Given the description of an element on the screen output the (x, y) to click on. 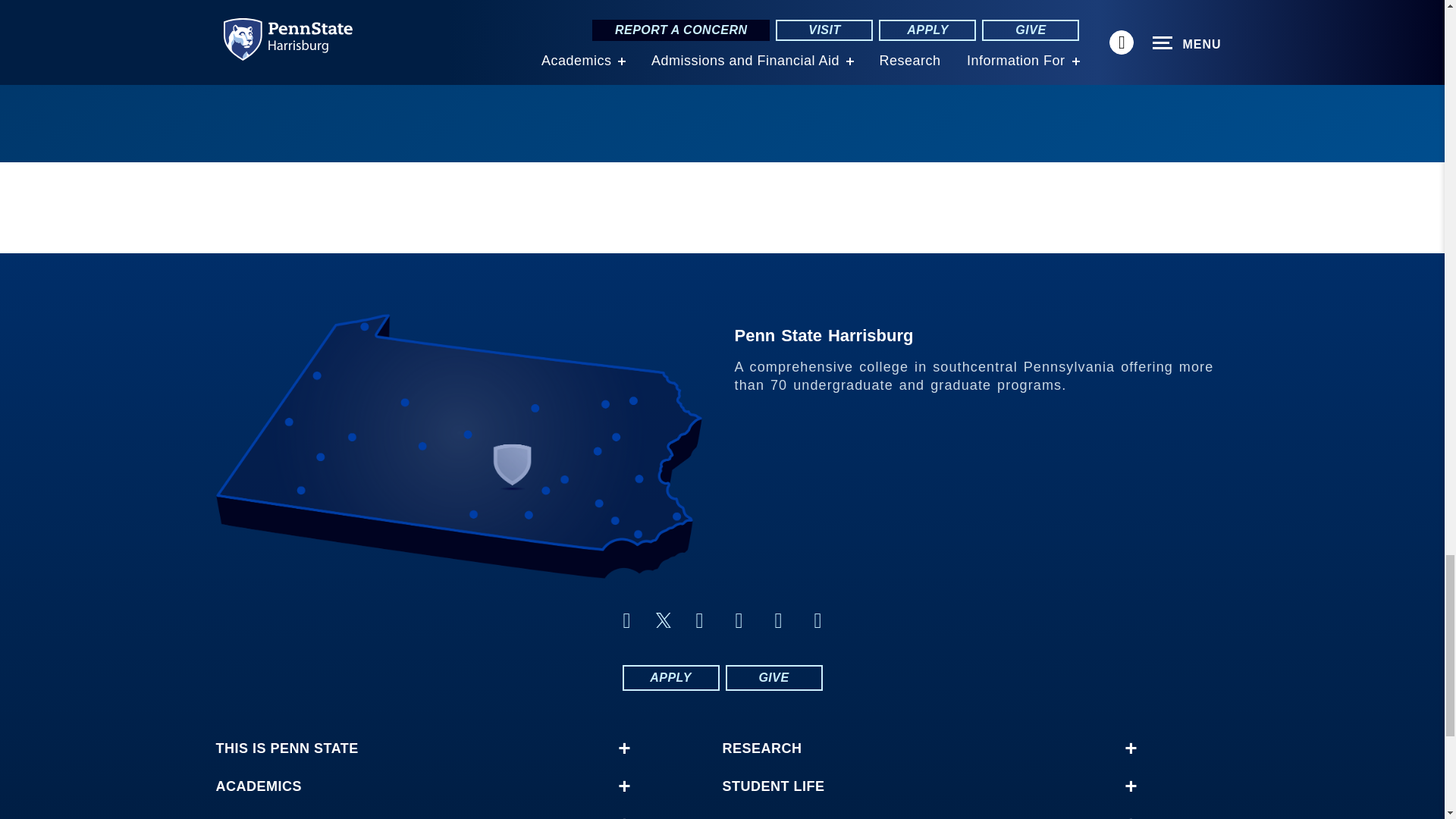
youtube (778, 620)
linkedin (699, 620)
flickr (738, 620)
instagram (817, 620)
facebook (626, 620)
